Given the description of an element on the screen output the (x, y) to click on. 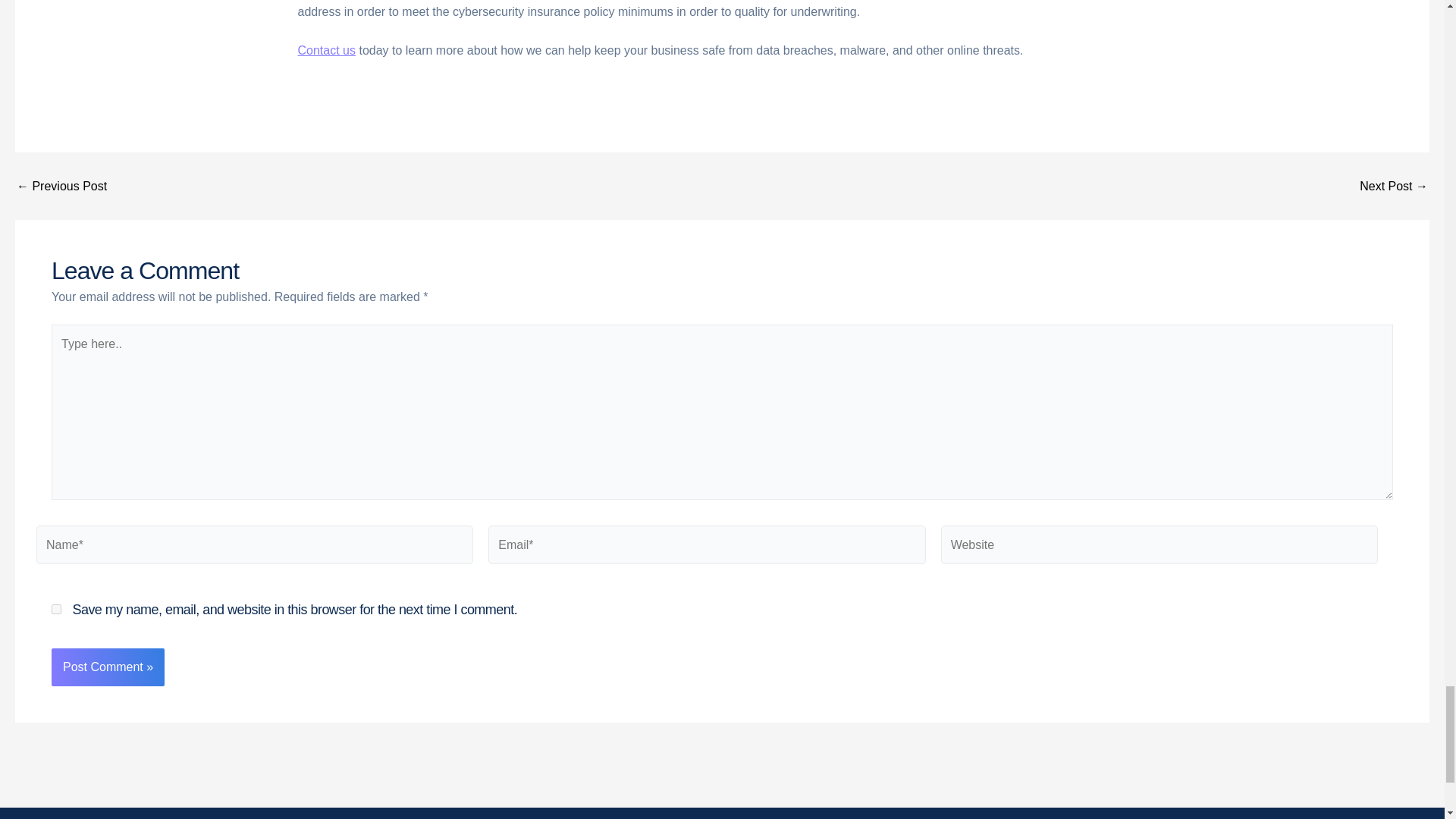
Contact us (326, 50)
Hack the hacker series: 5 ways hackers bypass MFA (1393, 186)
yes (55, 609)
